Given the description of an element on the screen output the (x, y) to click on. 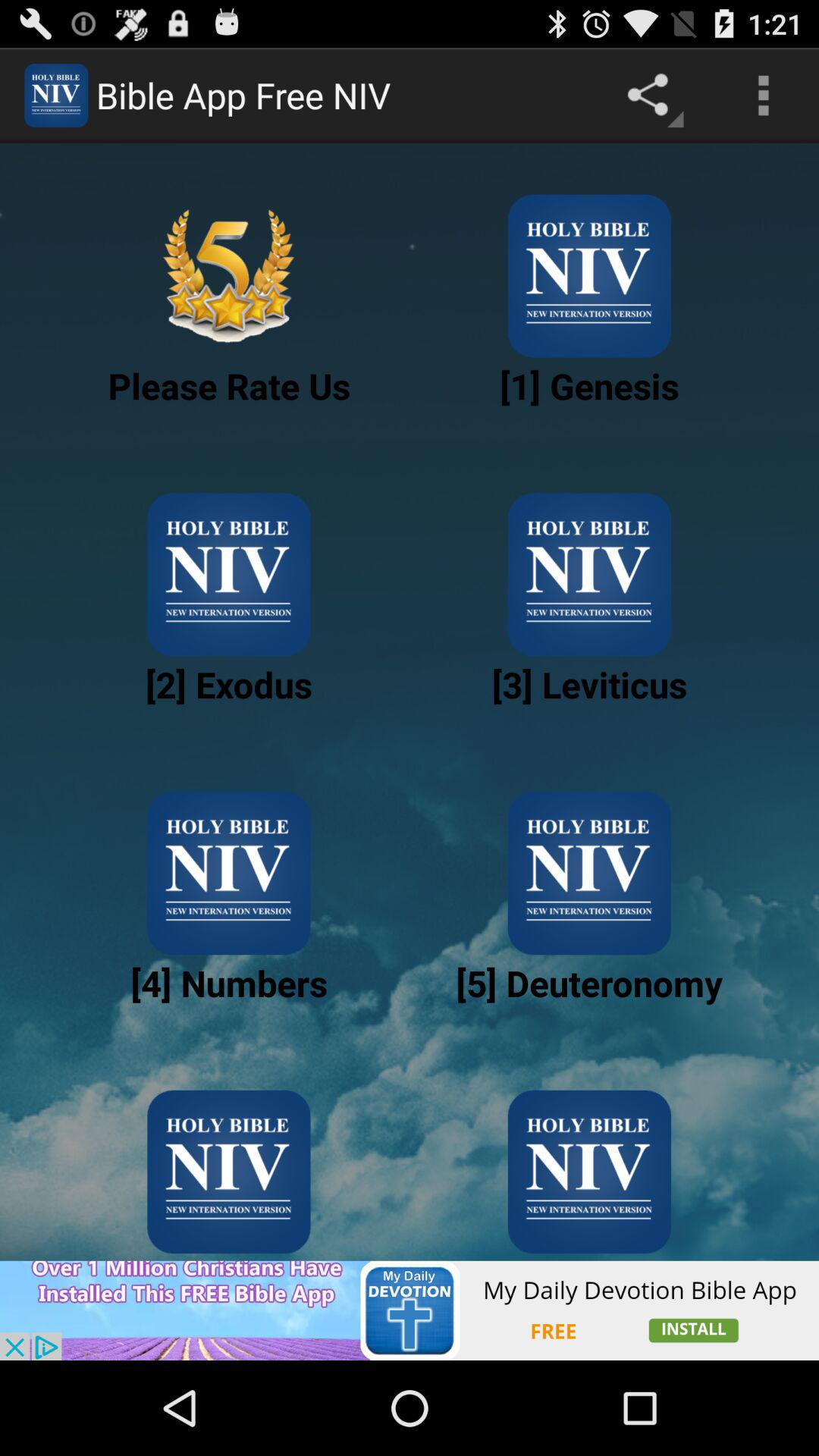
advertisement (409, 1310)
